Given the description of an element on the screen output the (x, y) to click on. 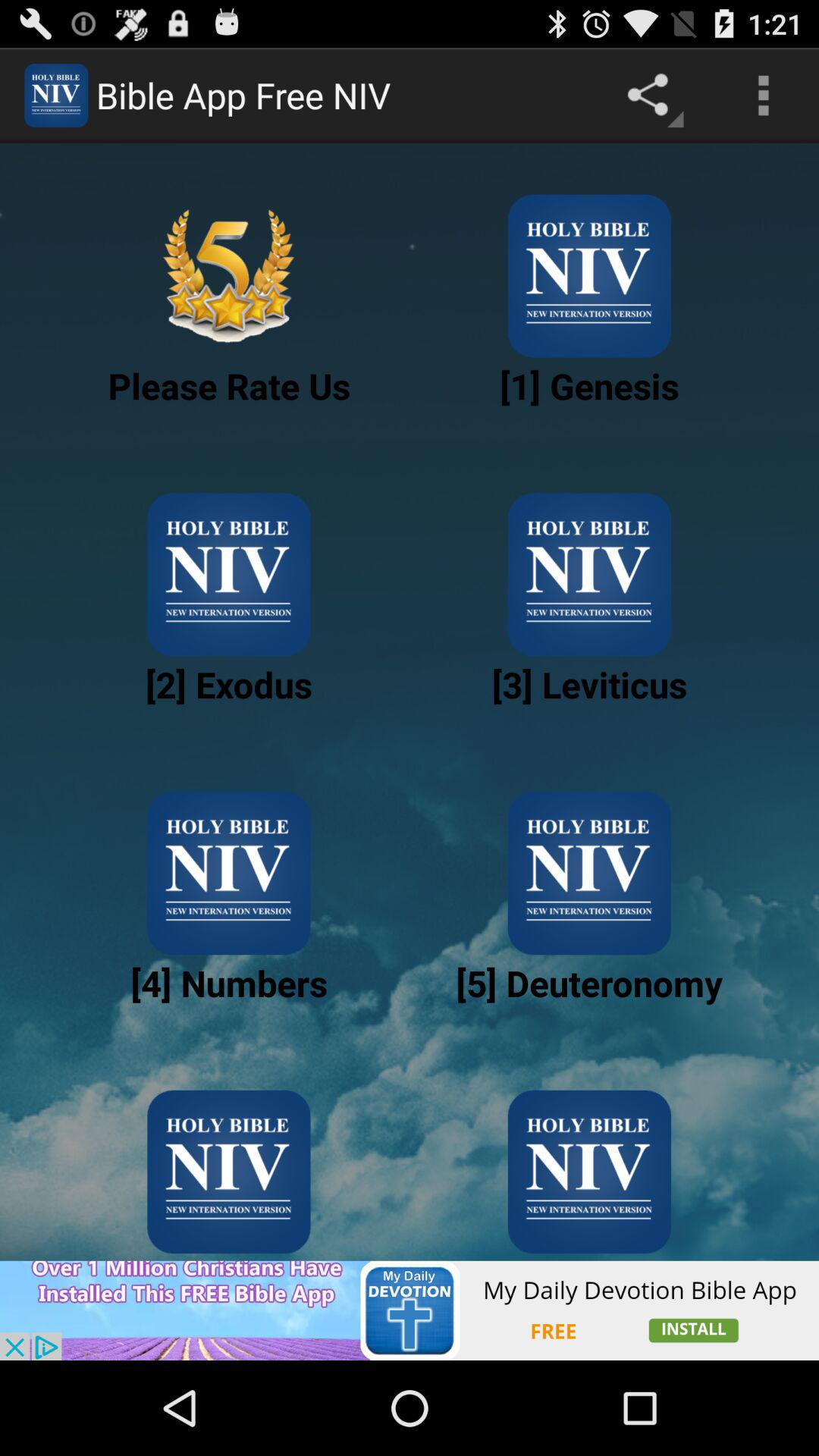
advertisement (409, 1310)
